Given the description of an element on the screen output the (x, y) to click on. 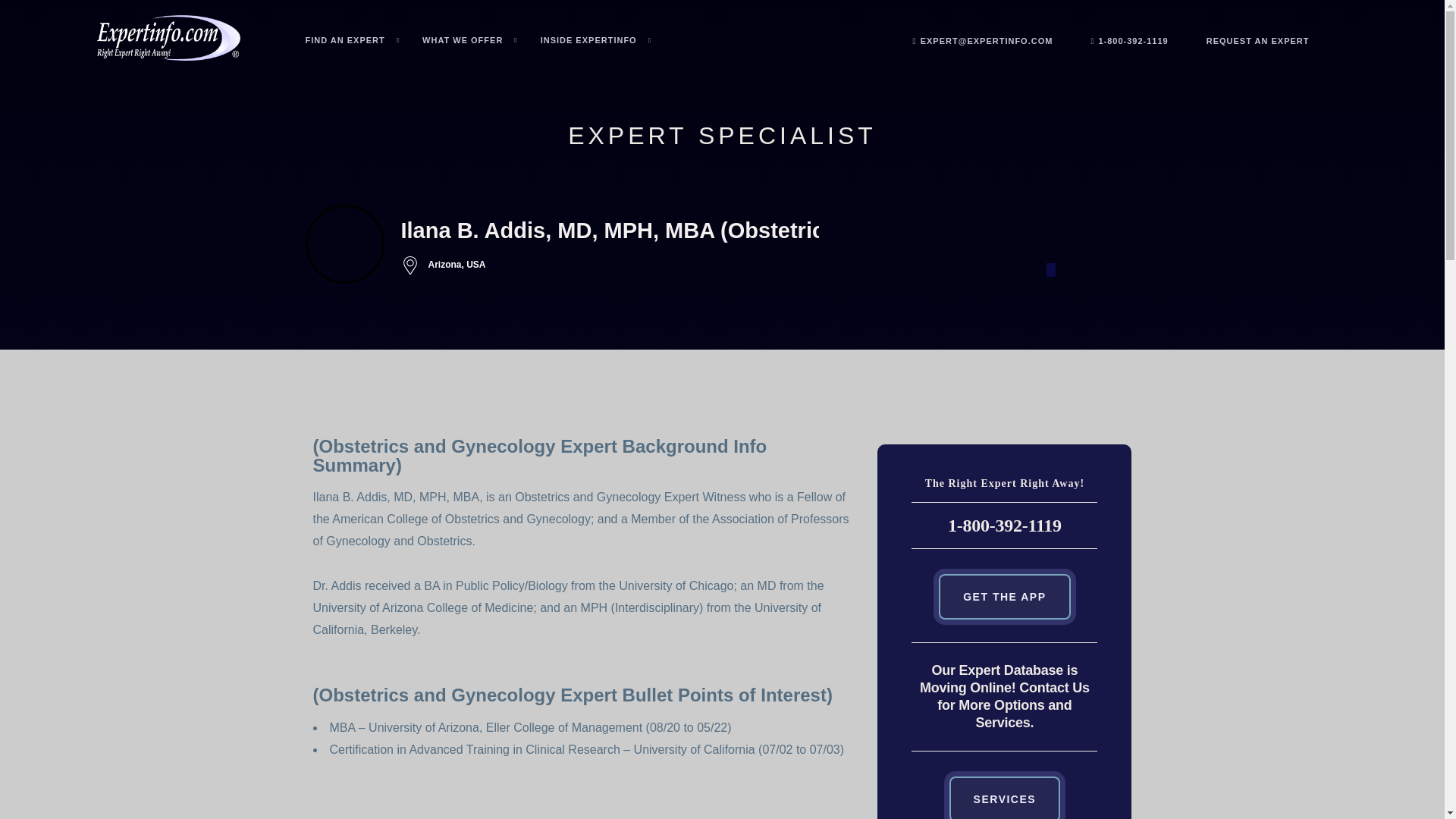
What We Offer (470, 40)
REQUEST AN EXPERT (1257, 40)
Find An Expert (351, 40)
Arizona, USA (657, 264)
WHAT WE OFFER (470, 40)
1-800-392-1119 (1128, 40)
FIND AN EXPERT (351, 40)
Inside Expertinfo (595, 40)
INSIDE EXPERTINFO (595, 40)
